Given the description of an element on the screen output the (x, y) to click on. 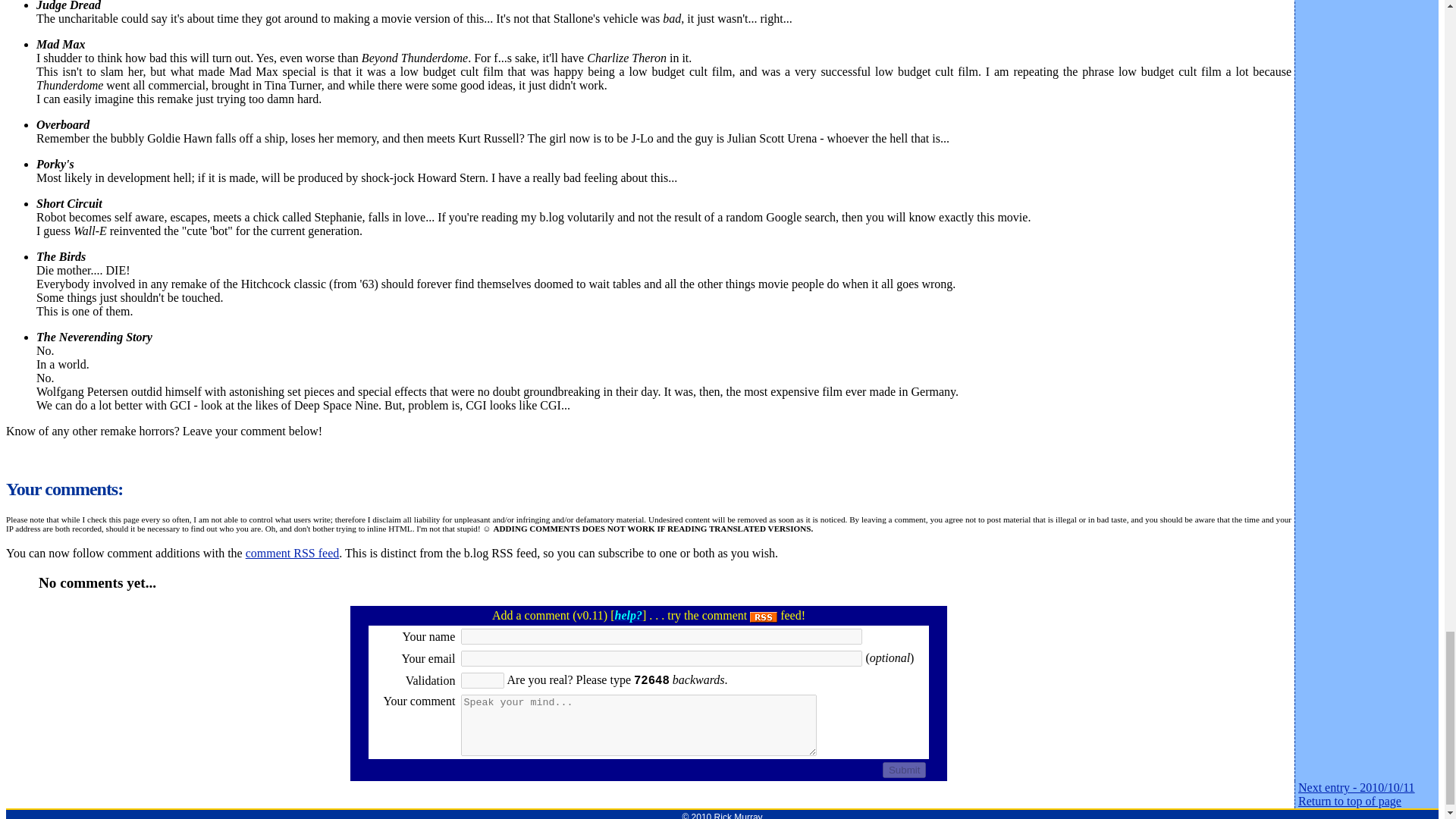
Submit (904, 770)
help? (628, 615)
comment RSS feed (292, 553)
Submit (904, 770)
